Given the description of an element on the screen output the (x, y) to click on. 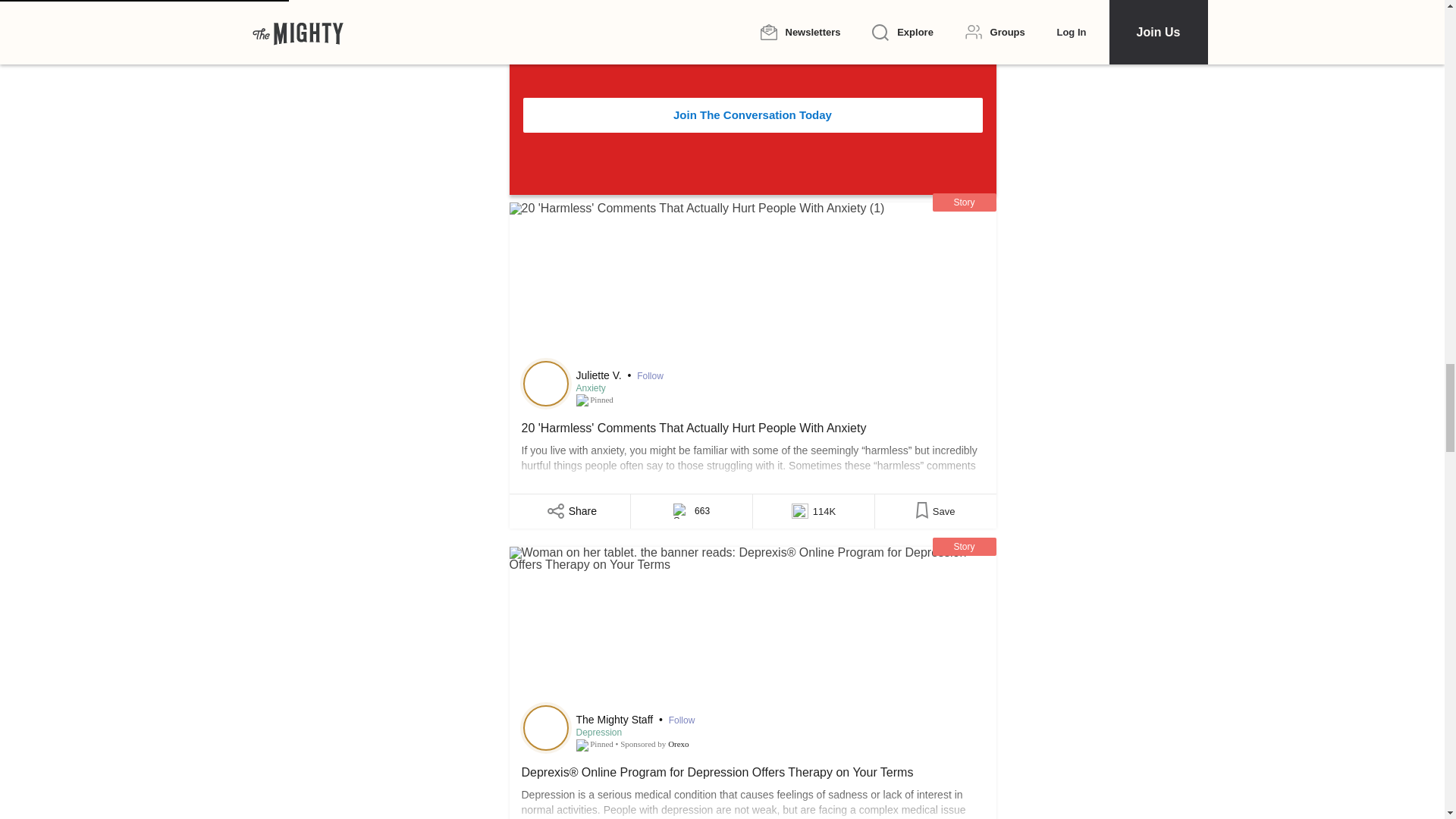
Visit Juliette V.'s profile (545, 383)
